Given the description of an element on the screen output the (x, y) to click on. 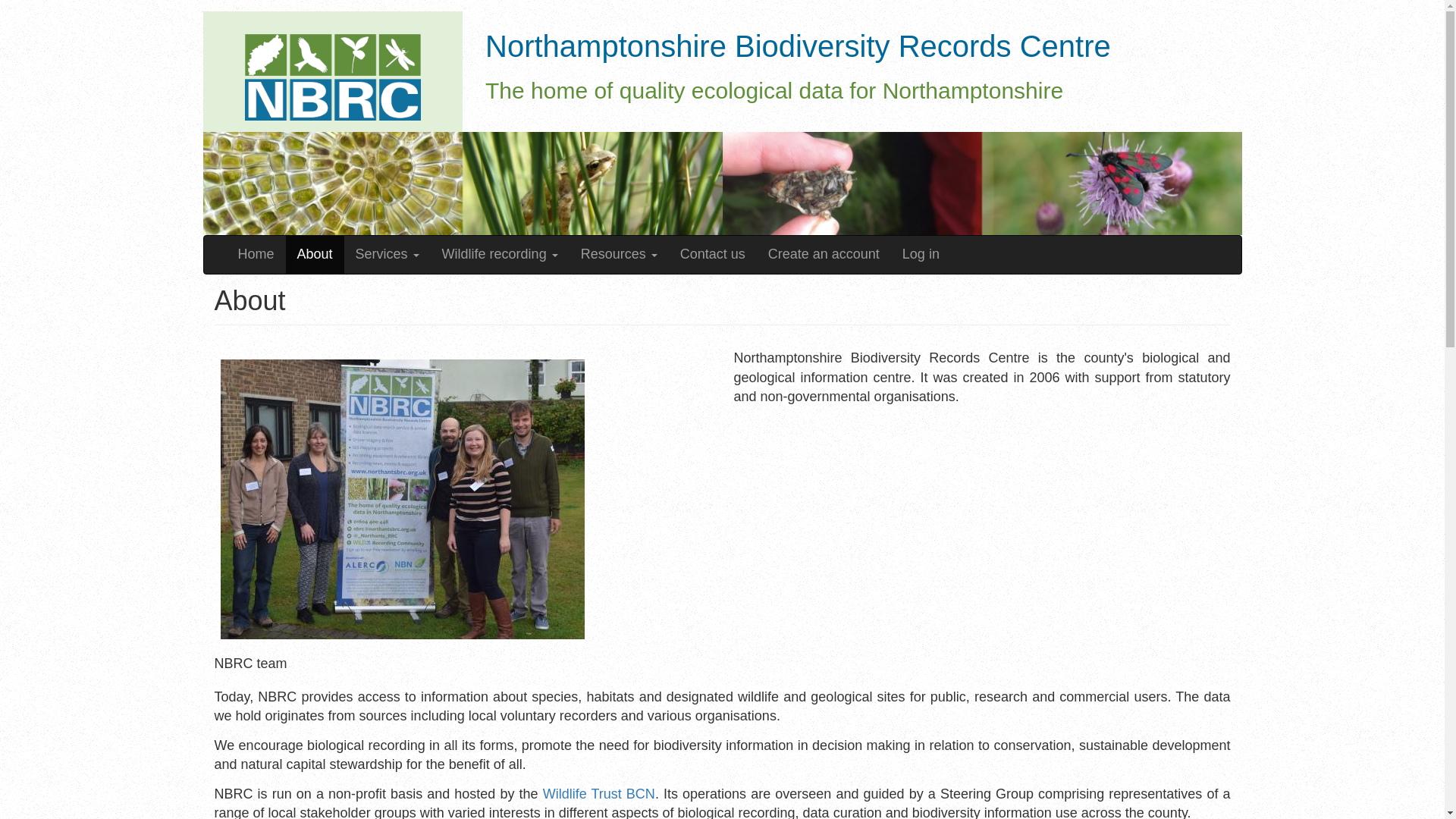
About (314, 254)
Services (386, 254)
Home (798, 55)
Contact us (712, 254)
Home (332, 71)
Create an account (824, 254)
Wildlife recording (499, 254)
Home (255, 254)
Northamptonshire Biodiversity Records Centre (798, 55)
Resources (618, 254)
